Given the description of an element on the screen output the (x, y) to click on. 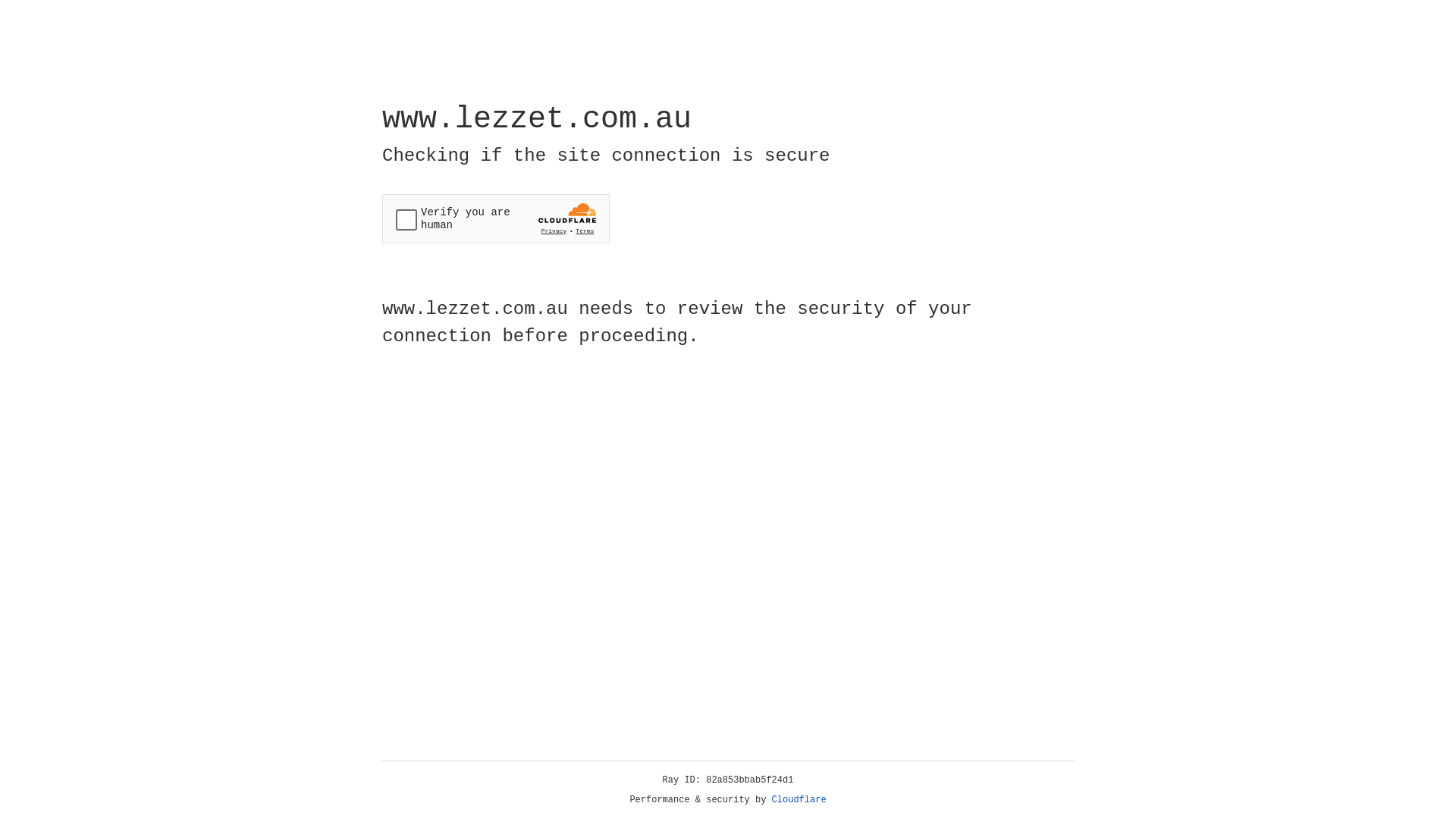
Cloudflare Element type: text (798, 799)
Widget containing a Cloudflare security challenge Element type: hover (495, 218)
